Given the description of an element on the screen output the (x, y) to click on. 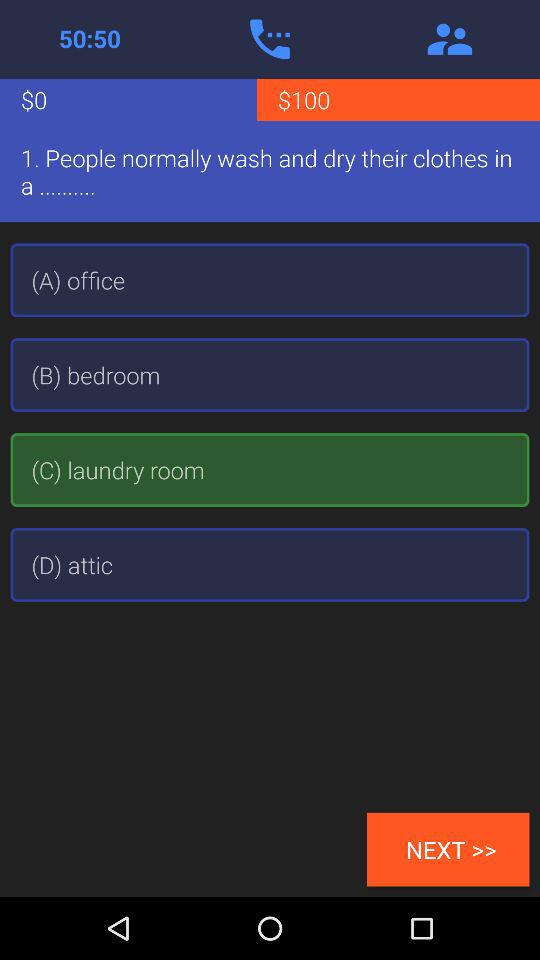
swipe to the (a) office item (269, 280)
